Given the description of an element on the screen output the (x, y) to click on. 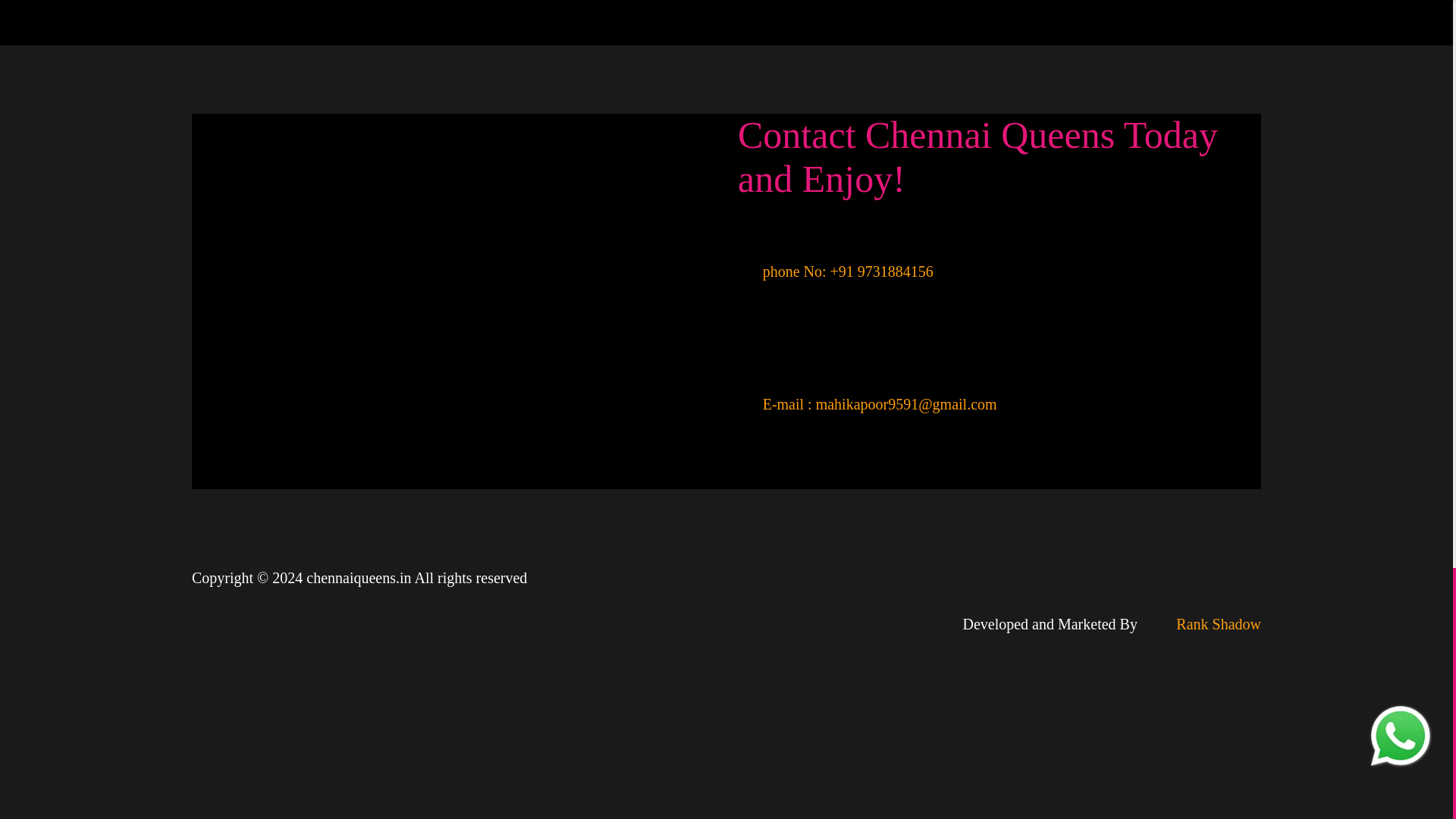
Escort Services in Velachery (860, 22)
sddefault (453, 301)
Adyar Escorts (1128, 22)
Guindy Escorts (592, 22)
Velachery Escorts (860, 22)
Rank Shadow (1200, 623)
Escort Service in Anna Nagar (325, 22)
Anna Nagar Escorts (325, 22)
Escort Service in Adyar (1128, 22)
Adult Website SEO (1200, 623)
